Given the description of an element on the screen output the (x, y) to click on. 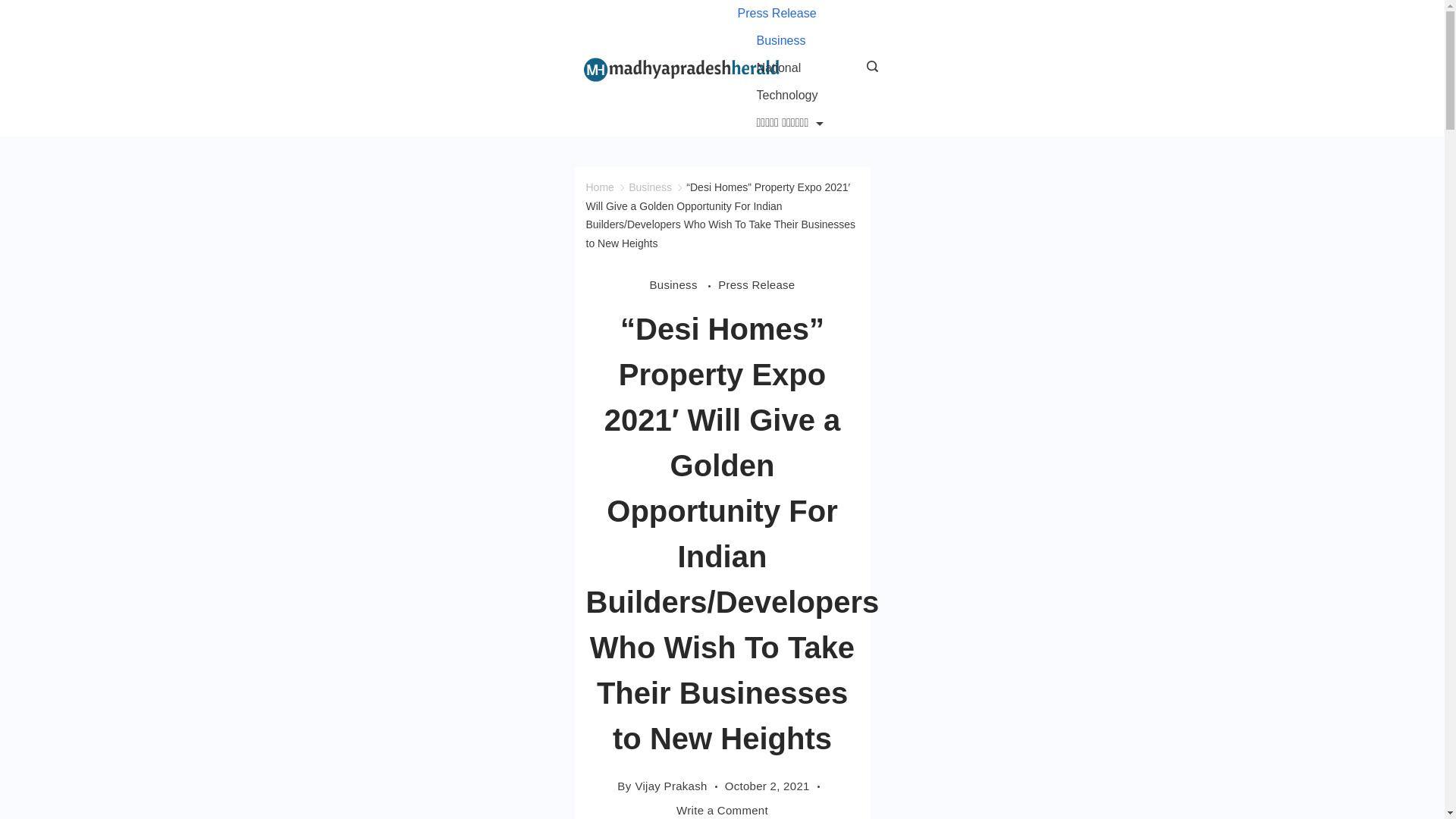
Vijay Prakash (670, 785)
Press Release (785, 13)
Business (780, 40)
Press Release (755, 284)
Business (683, 284)
National (777, 67)
Technology (785, 94)
Business (649, 186)
Home (598, 186)
